Given the description of an element on the screen output the (x, y) to click on. 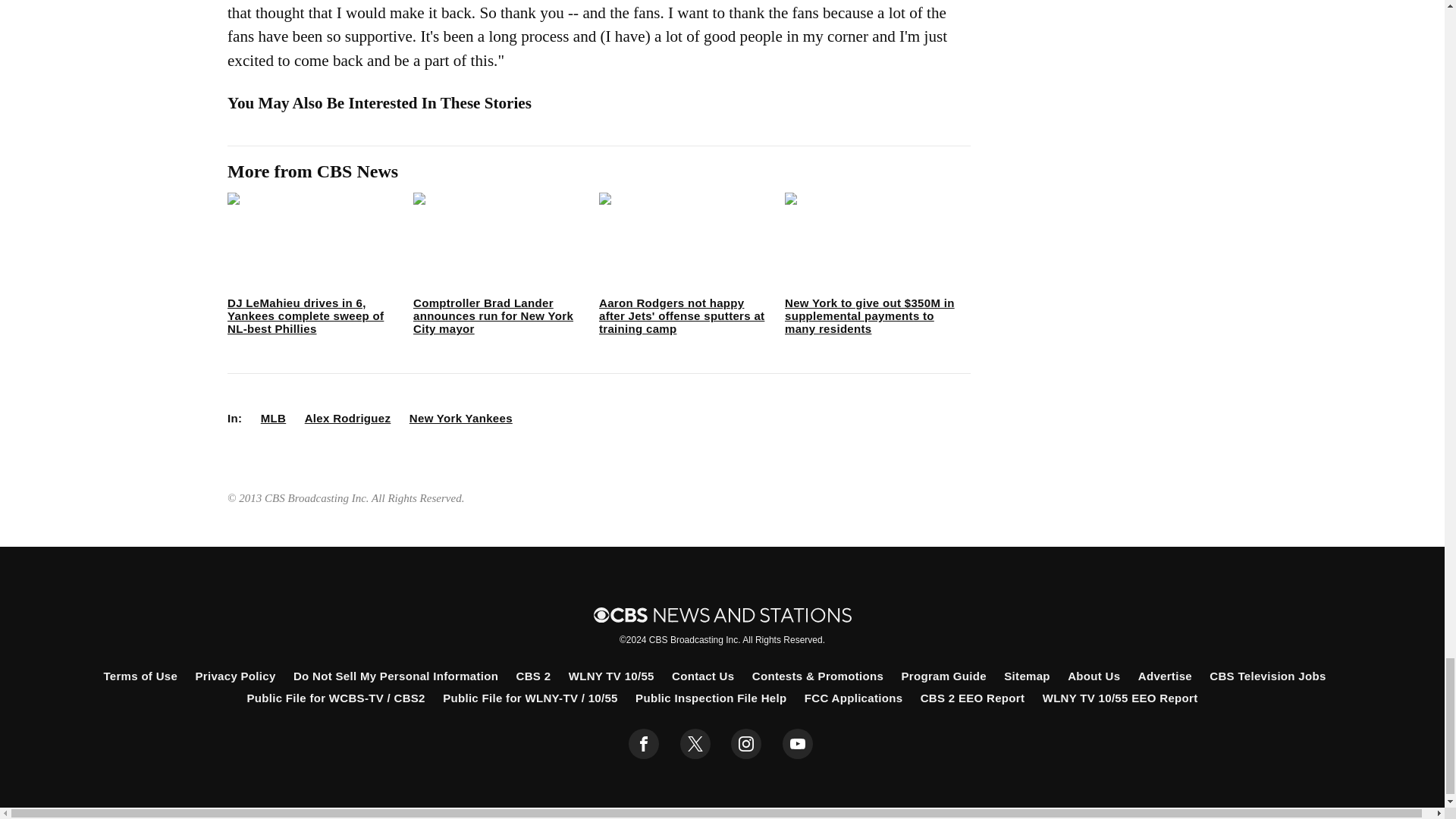
youtube (797, 743)
twitter (694, 743)
instagram (745, 743)
facebook (643, 743)
